Given the description of an element on the screen output the (x, y) to click on. 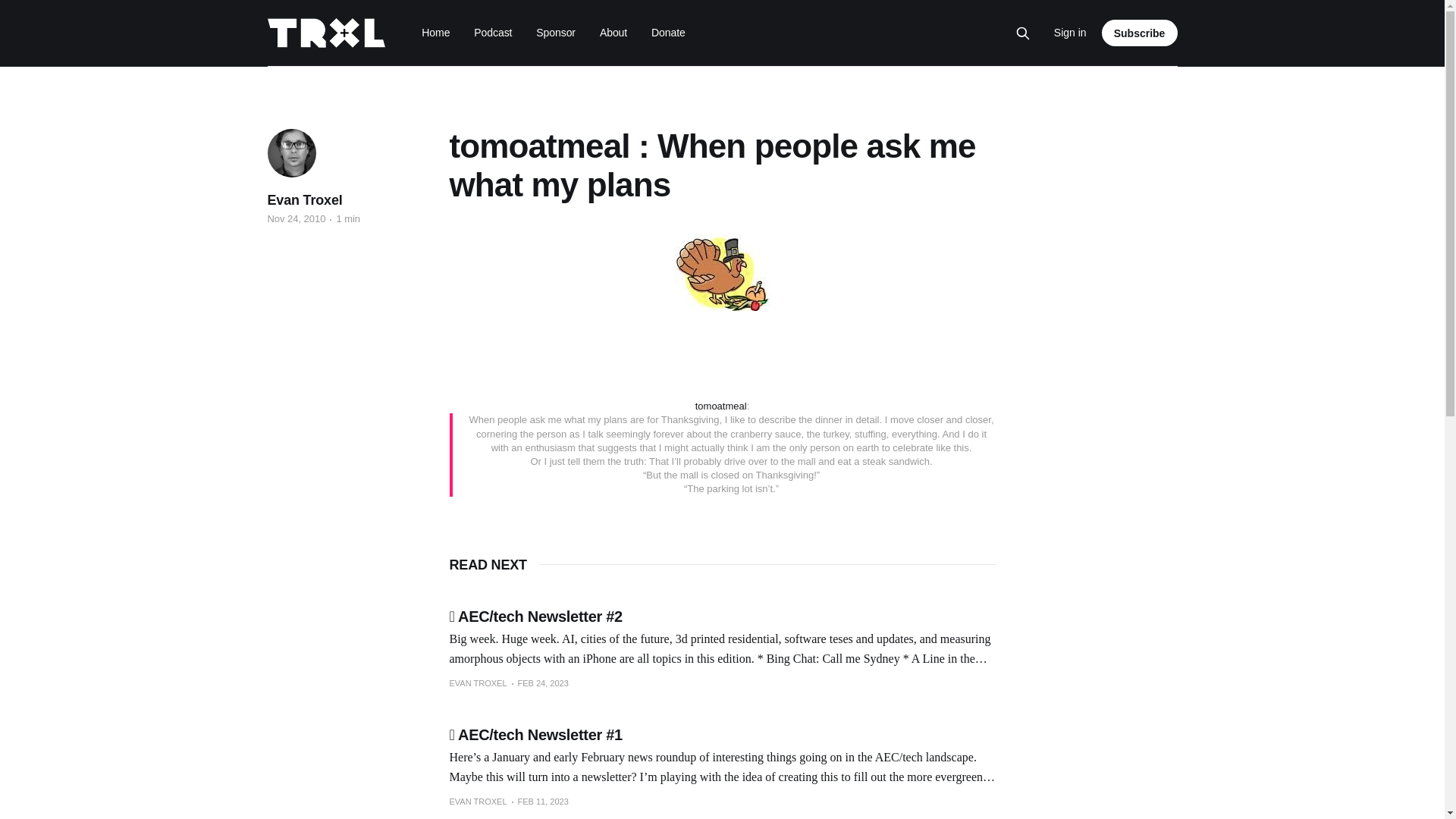
Sign in (1070, 32)
Evan Troxel (304, 199)
Home (435, 32)
tomoatmeal (720, 405)
About (613, 32)
Sponsor (555, 32)
Podcast (493, 32)
Subscribe (1139, 32)
Donate (667, 32)
